Given the description of an element on the screen output the (x, y) to click on. 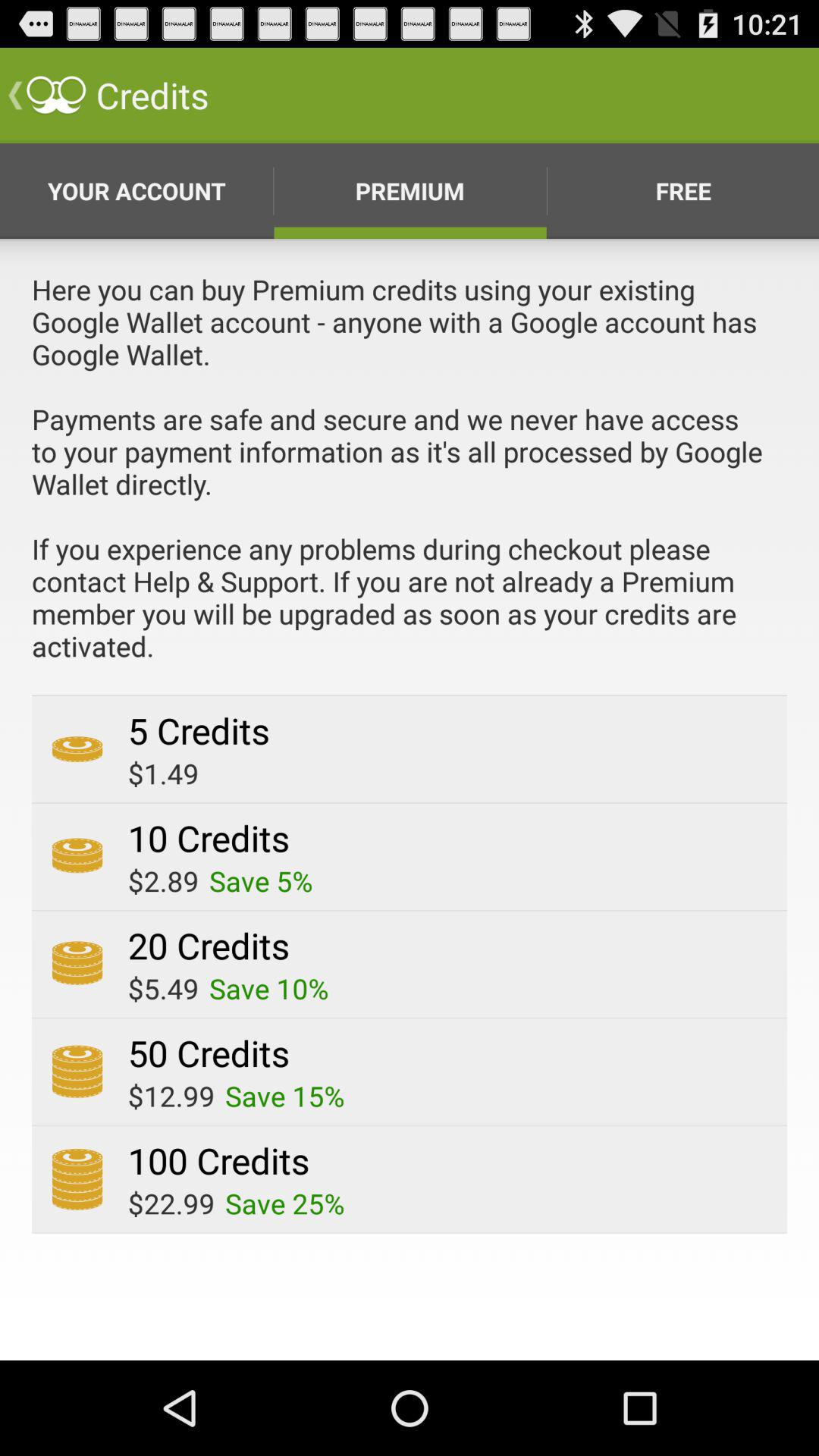
press app below 50 credits (284, 1095)
